Given the description of an element on the screen output the (x, y) to click on. 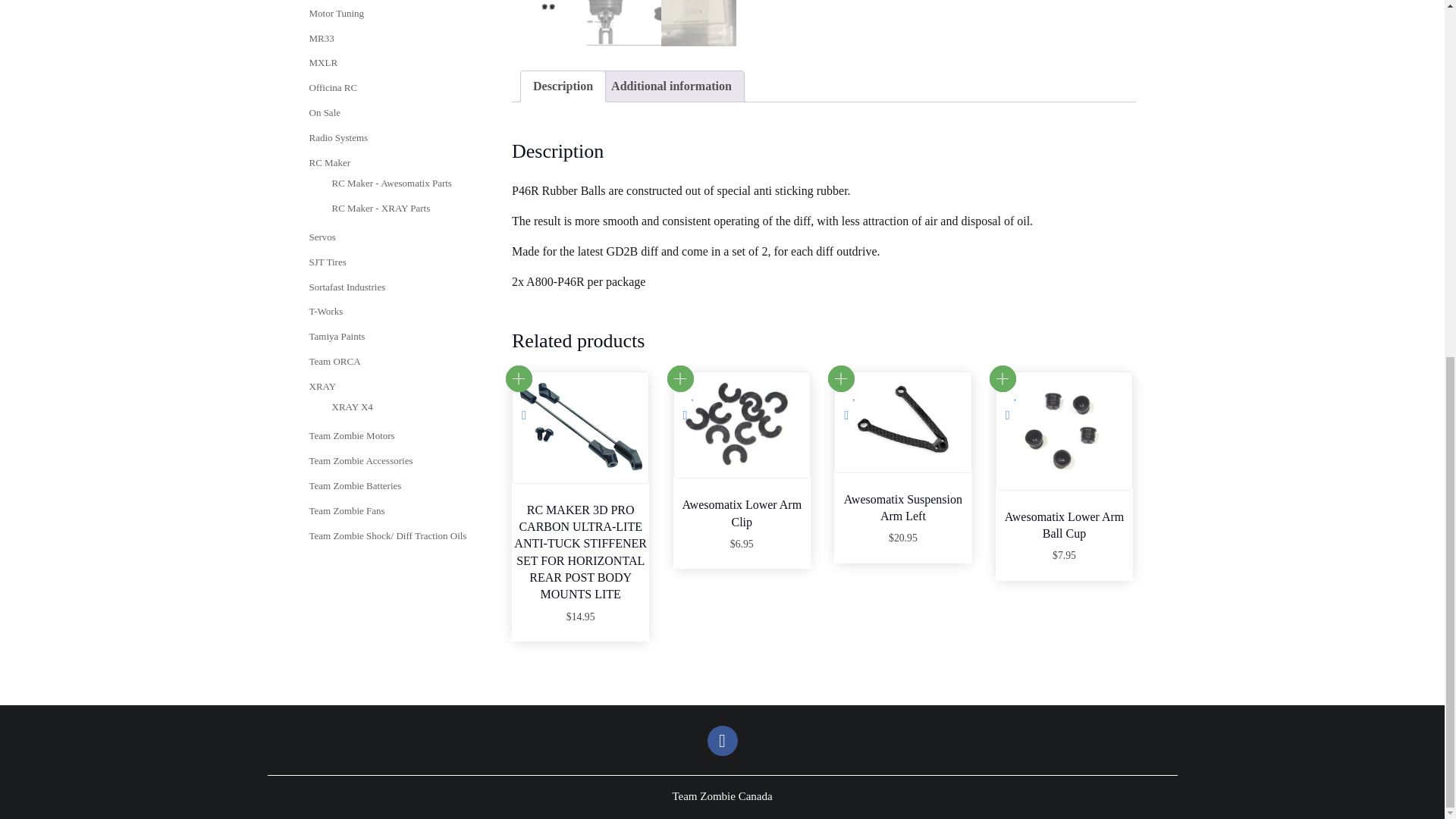
MR33 (321, 38)
Motor Tuning (336, 12)
SJT Tires (327, 261)
RC Maker (329, 162)
MXLR (322, 61)
Radio Systems (338, 137)
RC Maker - Awesomatix Parts (391, 183)
Officina RC (333, 87)
On Sale (324, 112)
Facebook (721, 740)
